Given the description of an element on the screen output the (x, y) to click on. 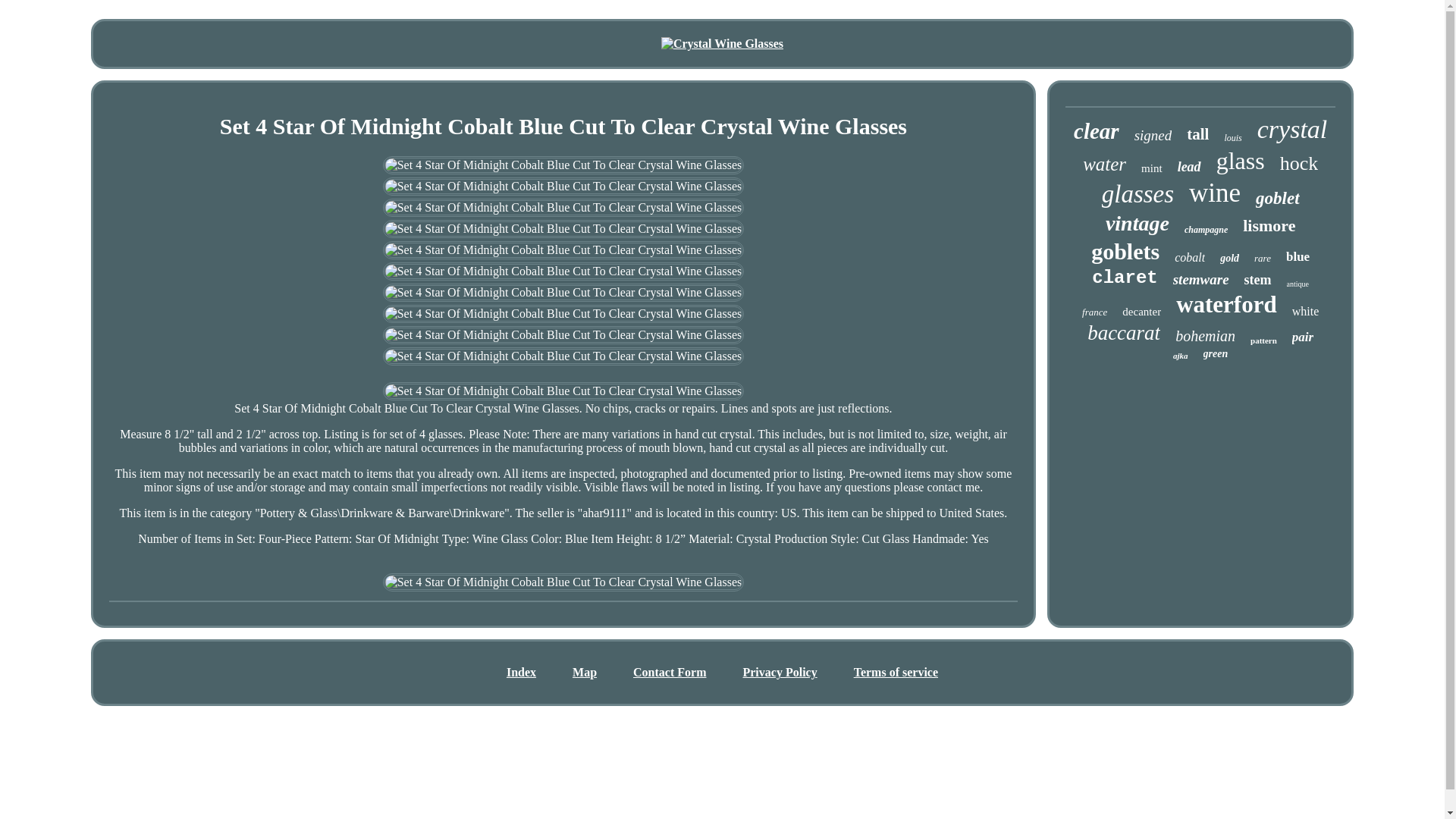
mint (1151, 168)
lead (1189, 166)
crystal (1292, 129)
decanter (1141, 311)
glasses (1137, 194)
waterford (1226, 304)
antique (1297, 284)
hock (1299, 163)
